Given the description of an element on the screen output the (x, y) to click on. 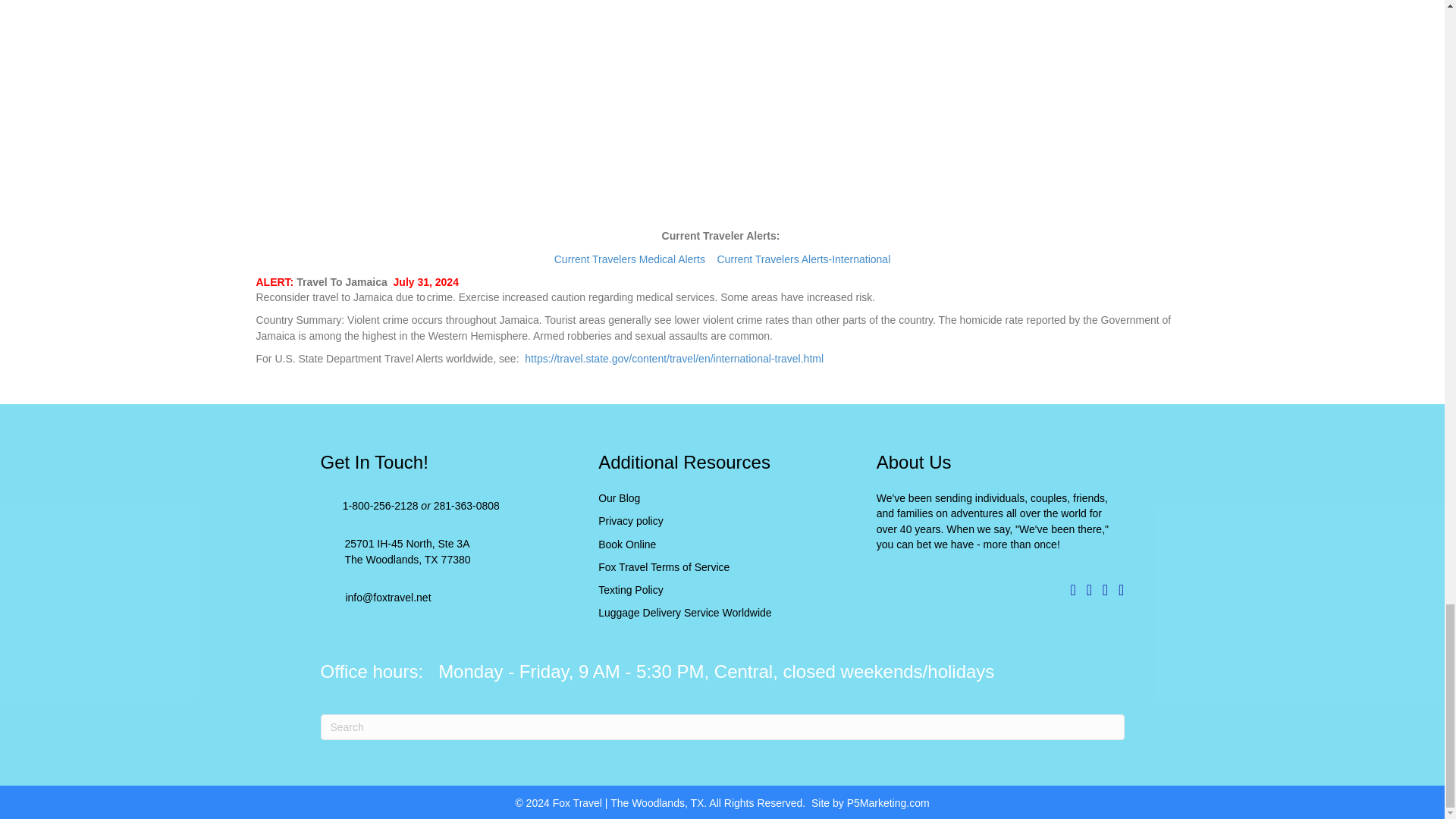
Type and press Enter to search. (722, 727)
